Given the description of an element on the screen output the (x, y) to click on. 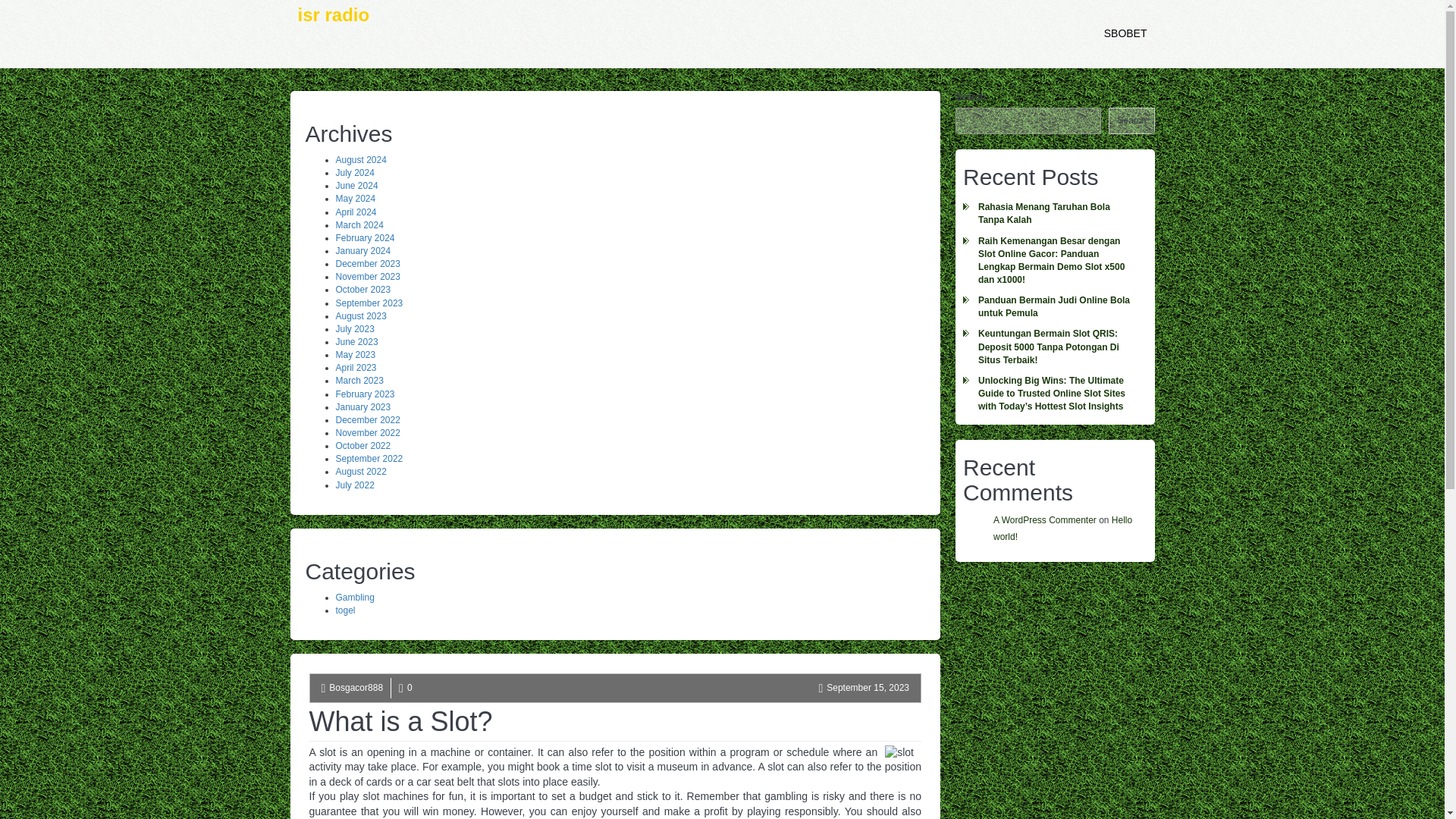
July 2022 (354, 484)
August 2022 (359, 471)
June 2023 (355, 341)
March 2023 (358, 380)
October 2023 (362, 289)
Bosgacor888 (355, 687)
August 2024 (359, 159)
December 2023 (366, 263)
January 2023 (362, 407)
